Given the description of an element on the screen output the (x, y) to click on. 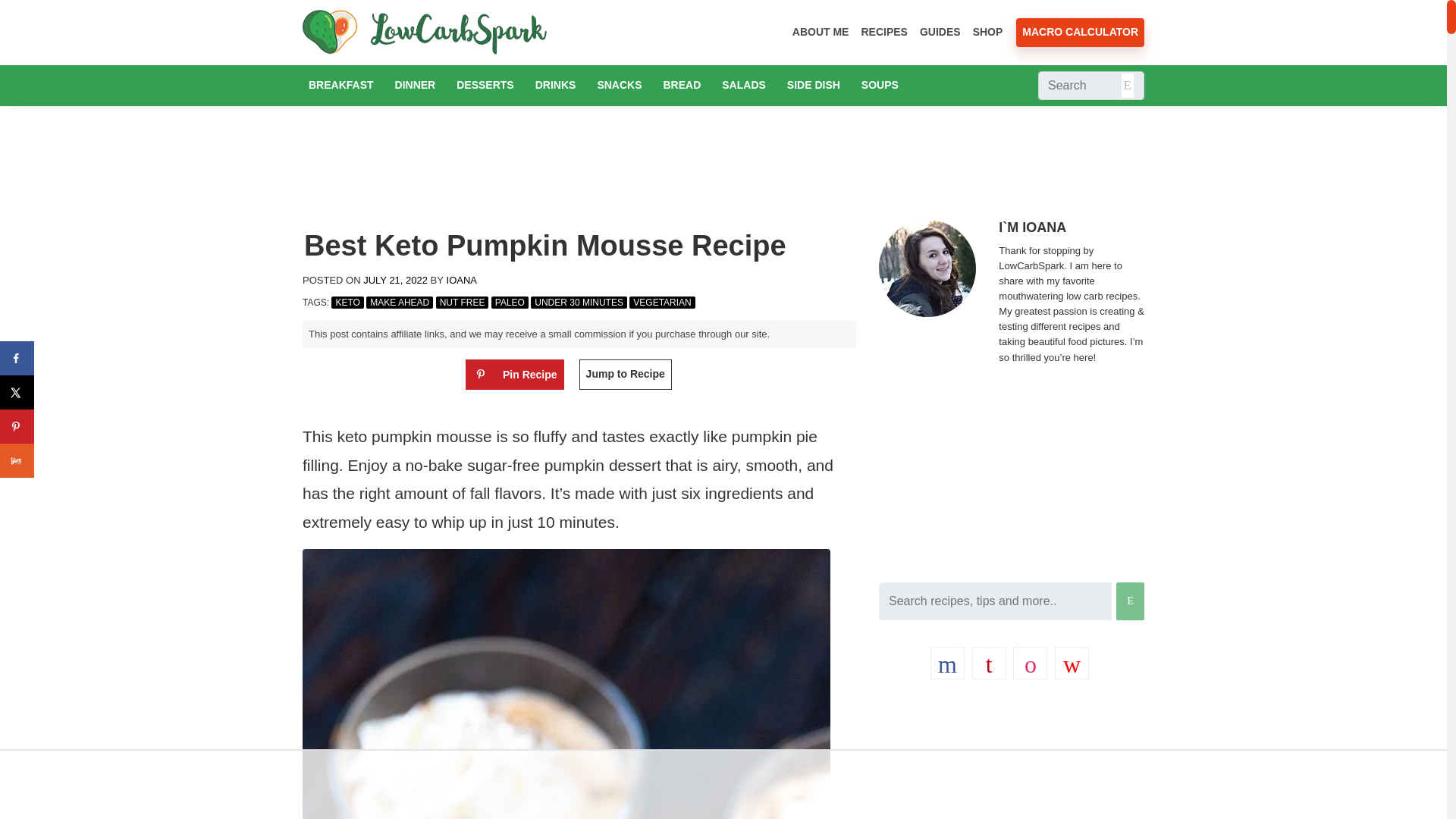
VEGETARIAN (661, 302)
MACRO CALCULATOR (1080, 32)
PALEO (510, 302)
Pin Recipe (514, 374)
DINNER (415, 85)
Recipes (883, 32)
About Me (821, 32)
RECIPES (883, 32)
Macro Calculator (1080, 32)
Soups (880, 85)
UNDER 30 MINUTES (579, 302)
Desserts (484, 85)
BREAD (681, 85)
KETO (346, 302)
IOANA (460, 279)
